Given the description of an element on the screen output the (x, y) to click on. 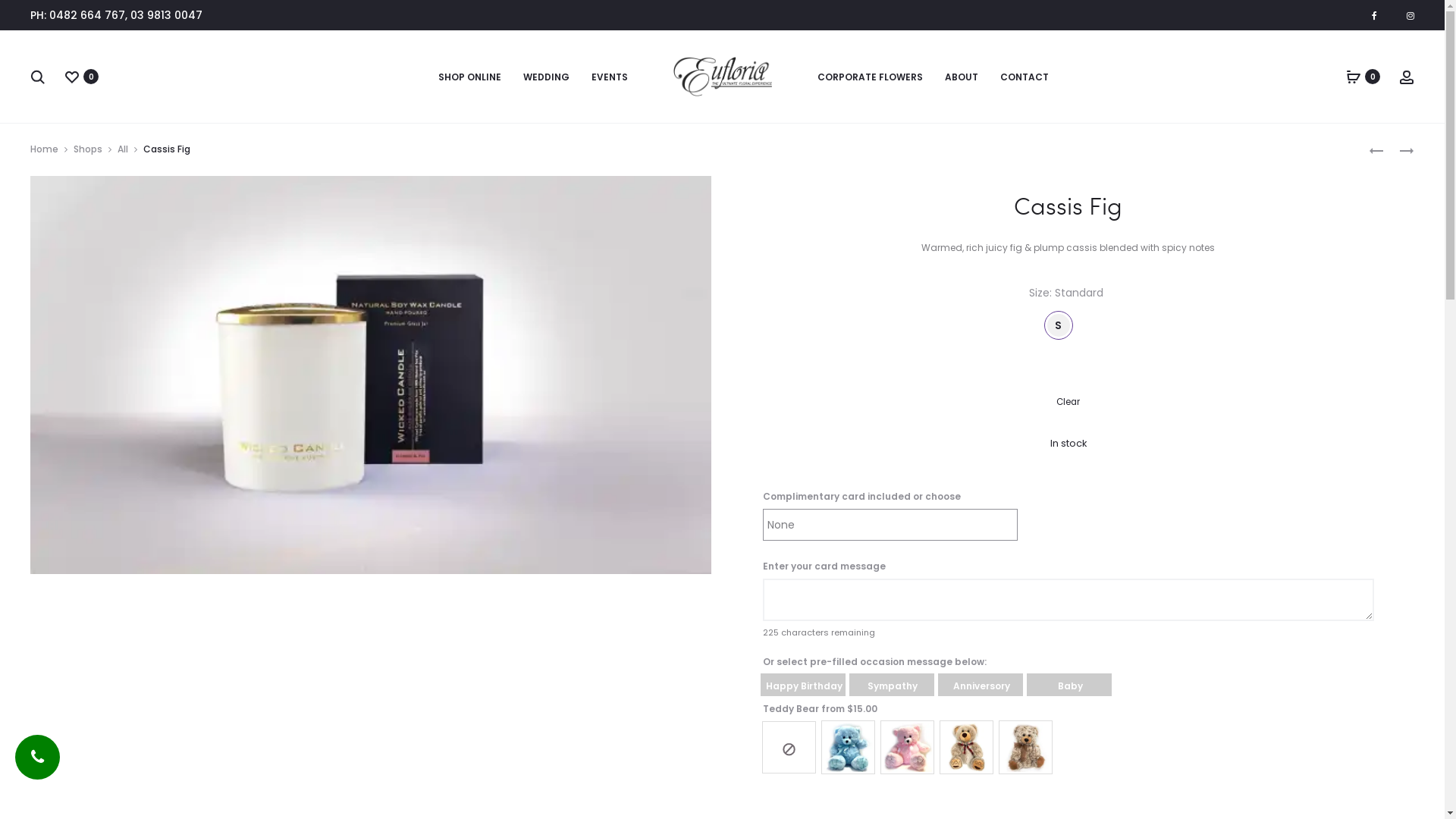
Search Element type: text (37, 76)
Account Element type: text (1406, 76)
Wicked Candle_Large White Jar_Cassis &amp; Fig Element type: hover (370, 374)
0 Element type: text (71, 76)
ROSE GREENTEA Element type: text (1398, 149)
WEDDING Element type: text (546, 77)
CORPORATE FLOWERS Element type: text (869, 77)
03 9813 0047 Element type: text (166, 14)
SHOP ONLINE Element type: text (469, 77)
AUSTRALIA Element type: text (1375, 149)
Shops Element type: text (87, 148)
All Element type: text (122, 148)
EVENTS Element type: text (609, 77)
0482 664 767 Element type: text (87, 14)
ABOUT Element type: text (961, 77)
CONTACT Element type: text (1023, 77)
Home Element type: text (44, 148)
0 Element type: text (1353, 76)
Clear Element type: text (1067, 402)
